Given the description of an element on the screen output the (x, y) to click on. 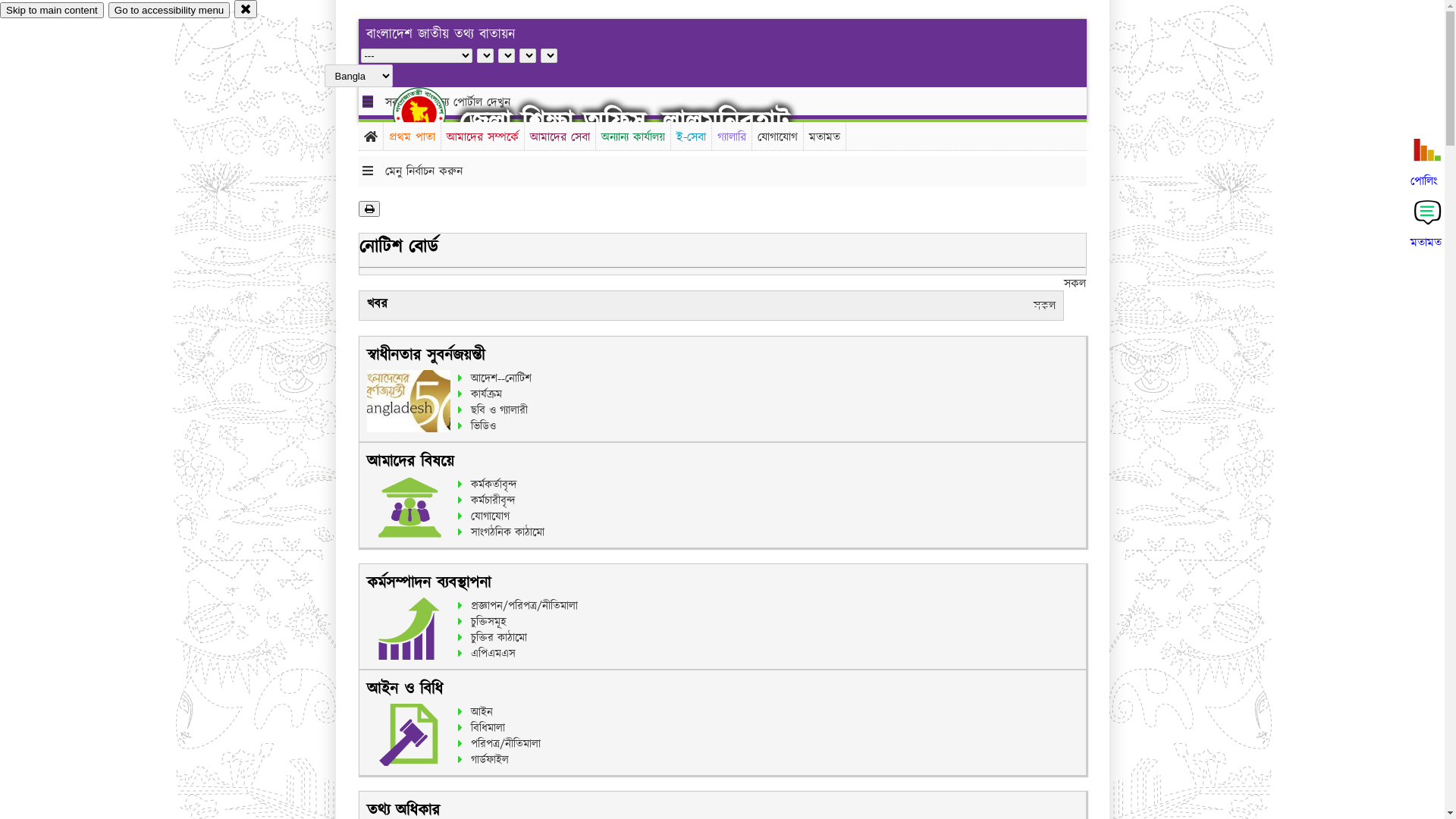
close Element type: hover (245, 9)
Skip to main content Element type: text (51, 10)
Go to accessibility menu Element type: text (168, 10)

                
             Element type: hover (431, 112)
